Given the description of an element on the screen output the (x, y) to click on. 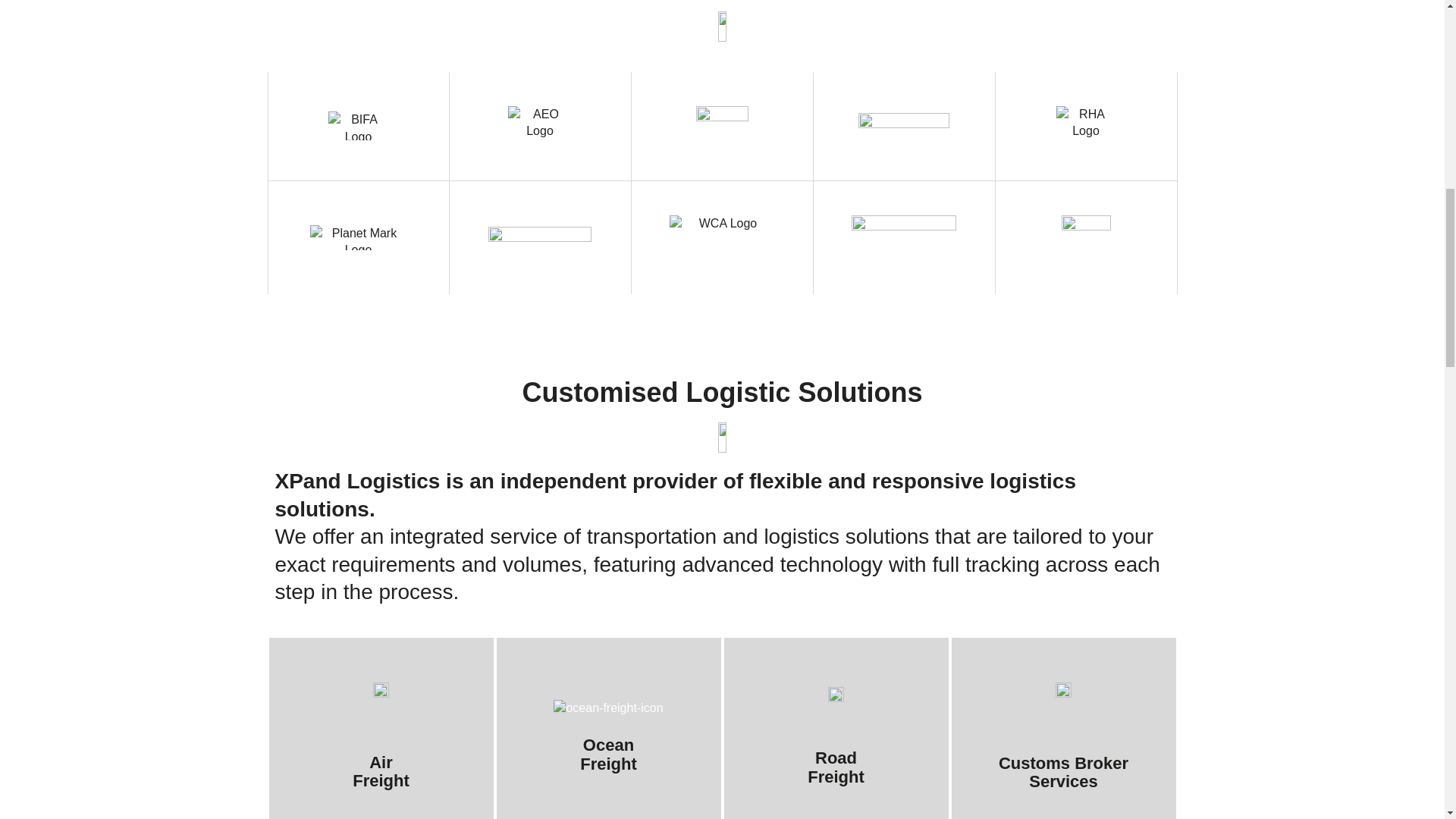
ocean-freight-icon (607, 708)
